Given the description of an element on the screen output the (x, y) to click on. 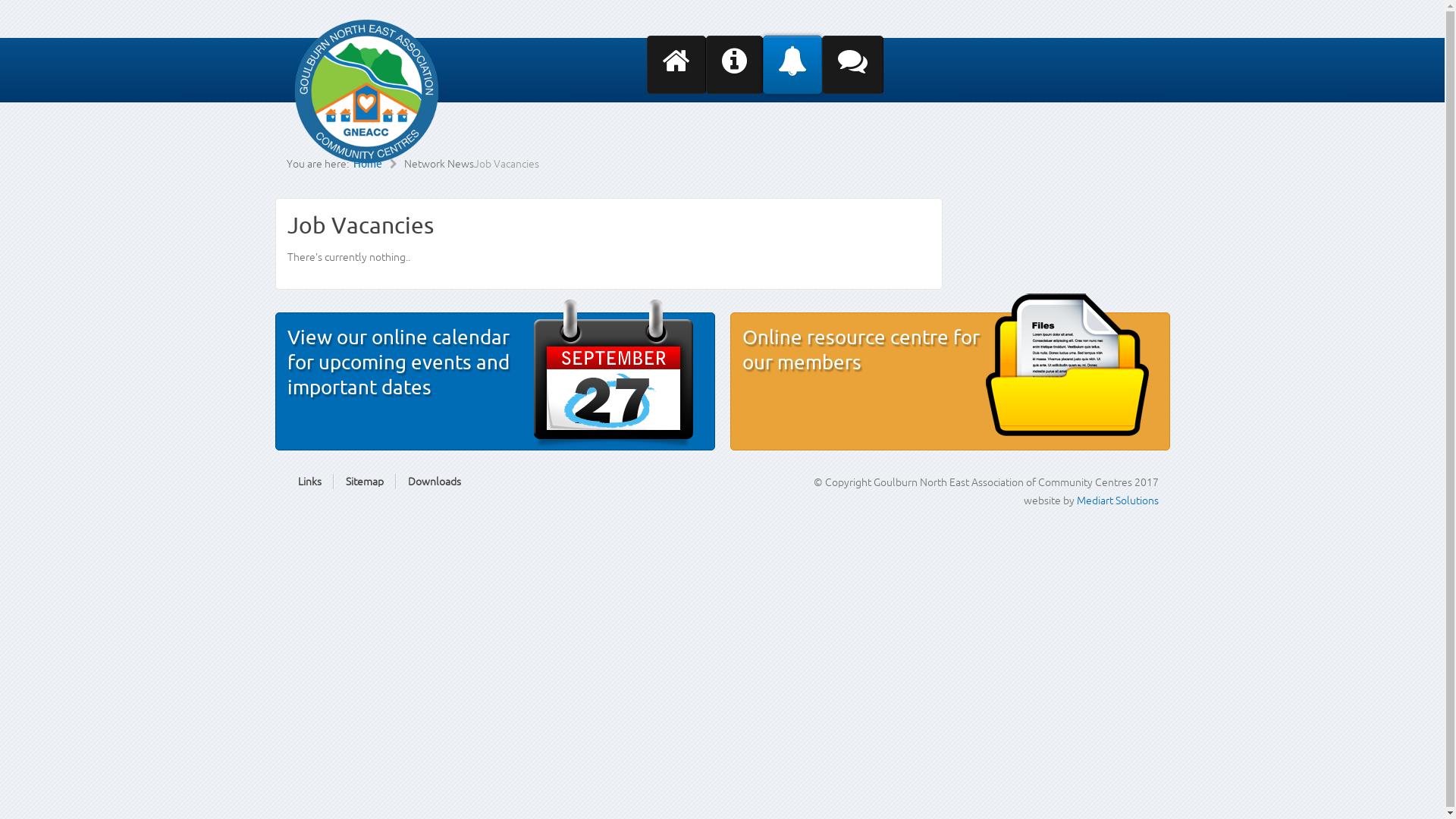
Mediart Solutions Element type: text (1115, 500)
Sitemap Element type: text (364, 481)
Downloads Element type: text (434, 481)
Online resource centre for our members Element type: text (860, 349)
Home Element type: text (378, 163)
Links Element type: text (308, 481)
